Given the description of an element on the screen output the (x, y) to click on. 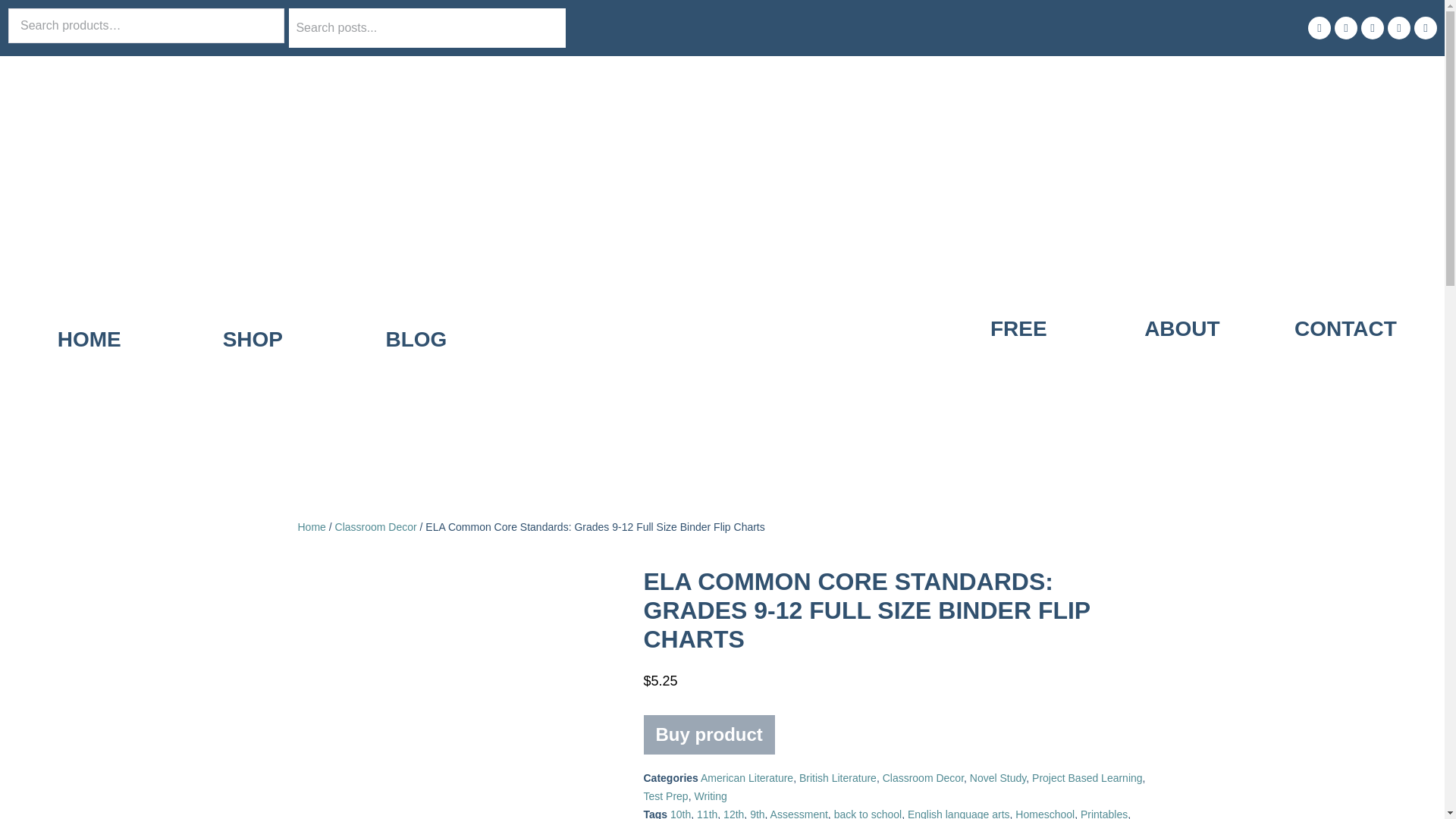
ABOUT (1181, 283)
Test Prep (665, 796)
Project Based Learning (1087, 777)
American Literature (746, 777)
Classroom Decor (922, 777)
Writing (710, 796)
Novel Study (997, 777)
Search (34, 15)
Buy product (708, 734)
FREE (1018, 298)
